Given the description of an element on the screen output the (x, y) to click on. 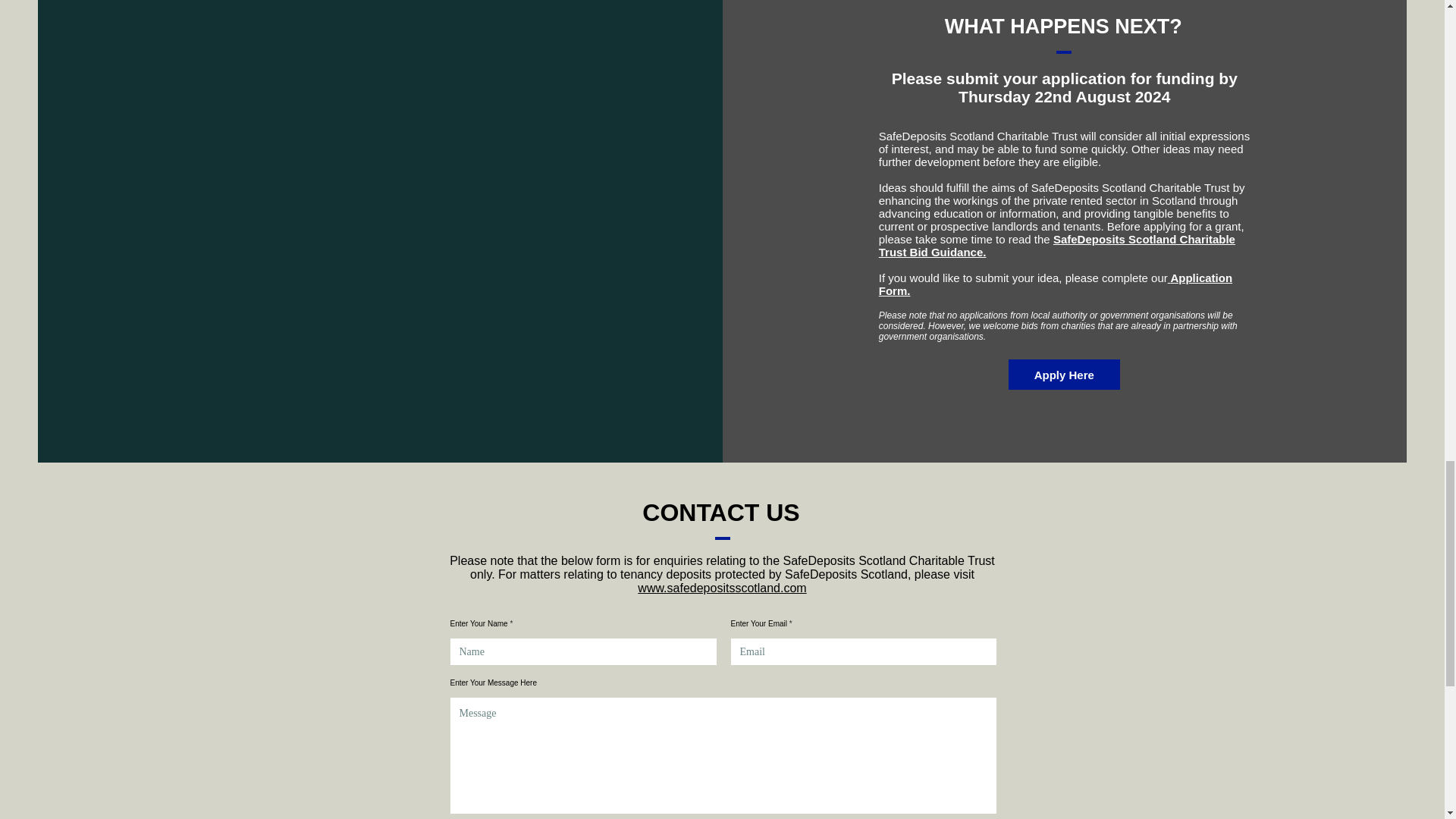
Application Form. (1055, 284)
SafeDeposits Scotland Charitable Trust Bid Guidance. (1056, 245)
Apply Here (1064, 374)
www.safedepositsscotland.com (721, 587)
